Given the description of an element on the screen output the (x, y) to click on. 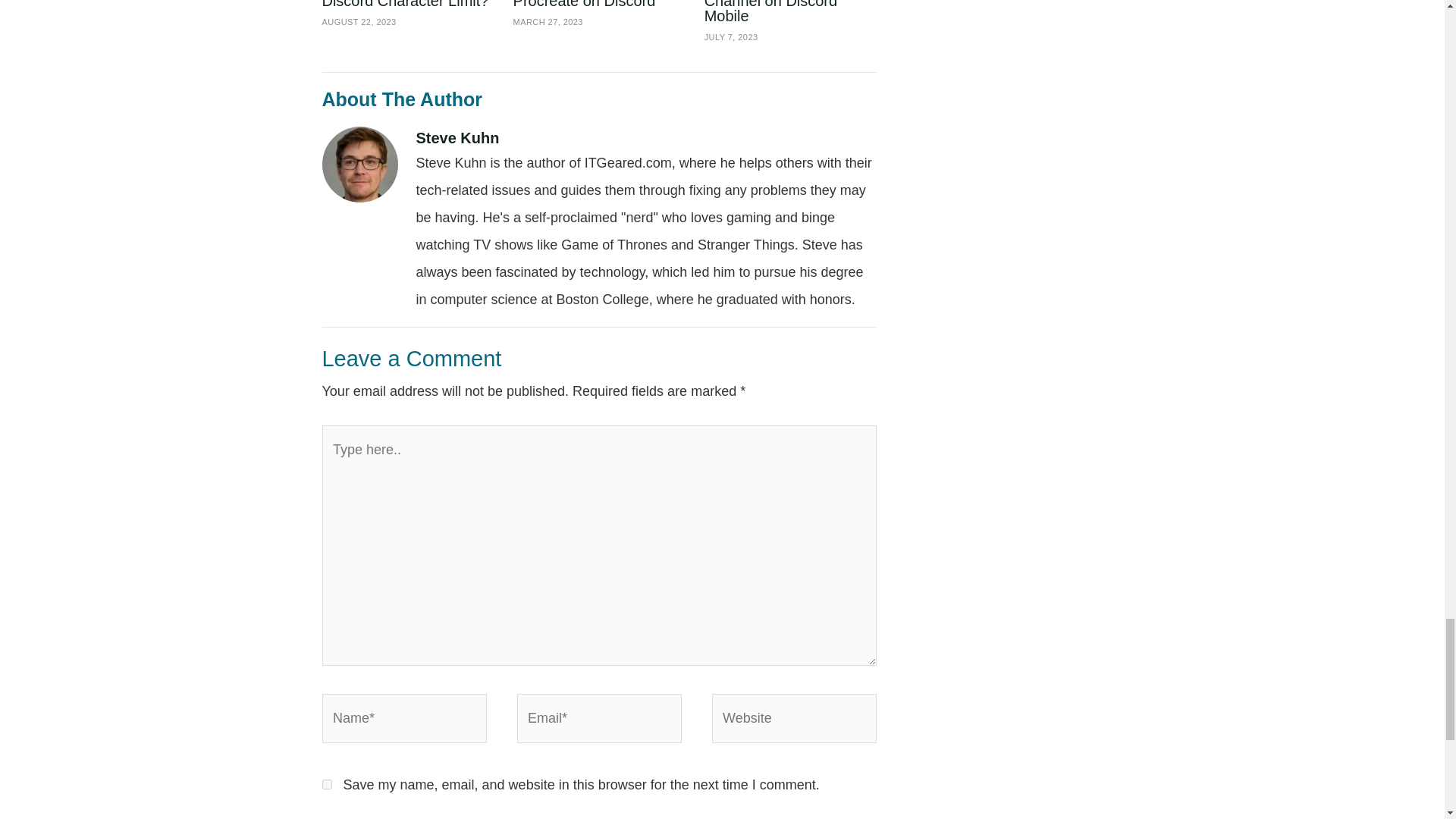
yes (326, 784)
